Given the description of an element on the screen output the (x, y) to click on. 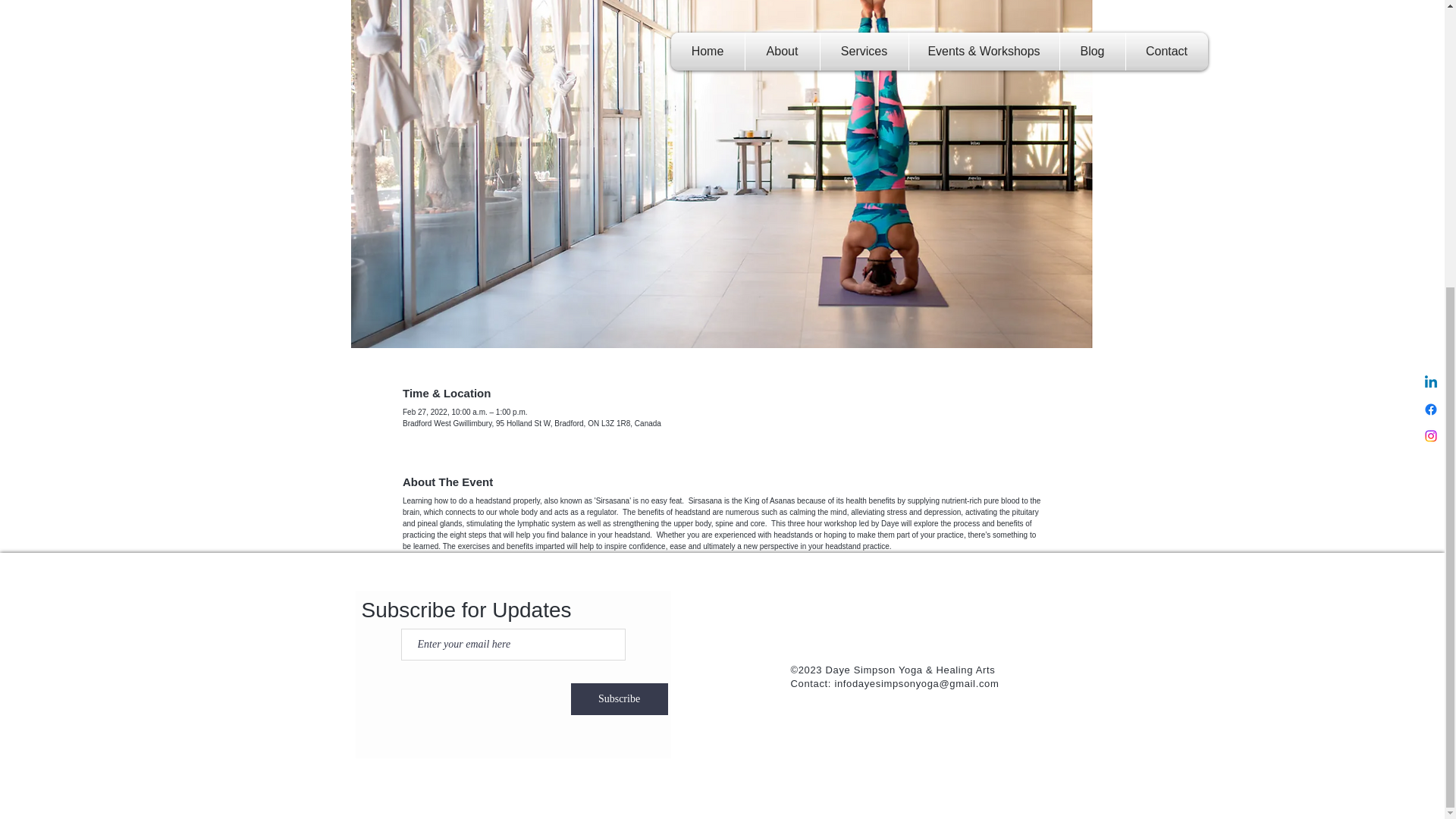
Subscribe (618, 698)
